Given the description of an element on the screen output the (x, y) to click on. 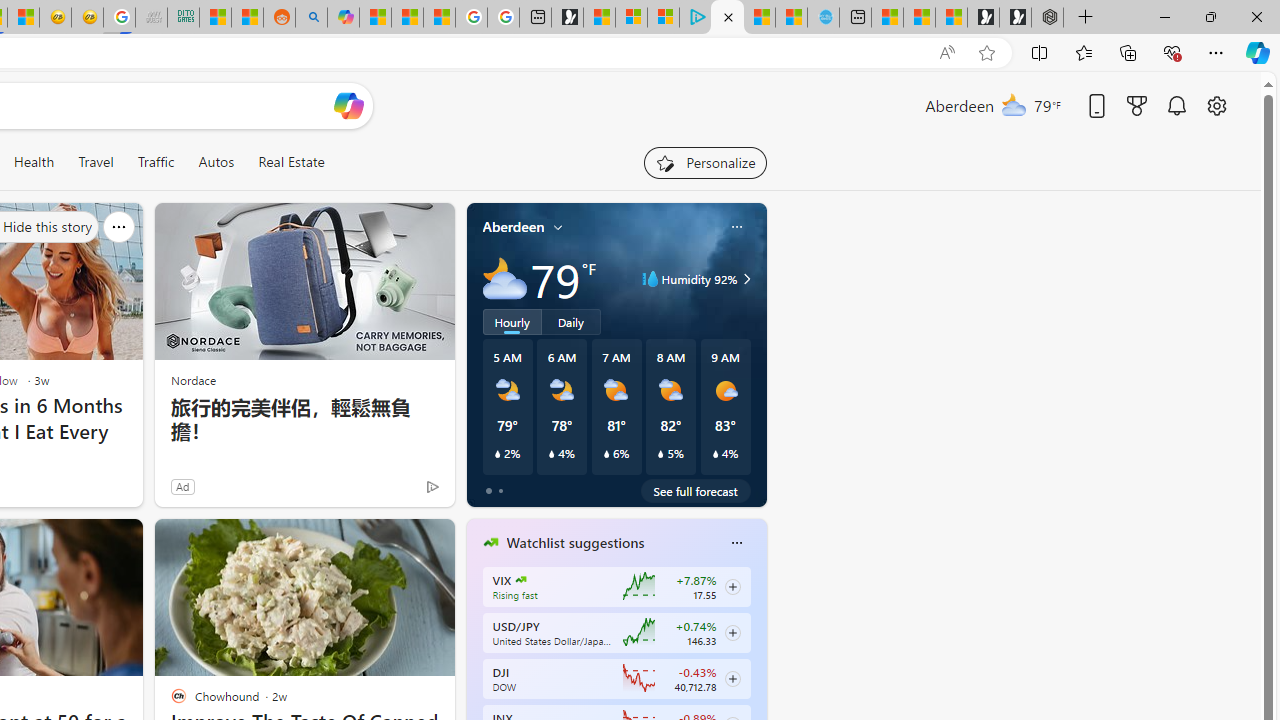
Personalize your feed" (704, 162)
Browser essentials (1171, 52)
Copilot (Ctrl+Shift+.) (1258, 52)
Nordace - Nordace Siena Is Not An Ordinary Backpack (1047, 17)
Mostly cloudy (504, 278)
Travel (95, 161)
Mostly cloudy (504, 278)
My location (558, 227)
Restore (1210, 16)
Health (34, 161)
Daily (571, 321)
Traffic (155, 162)
